Given the description of an element on the screen output the (x, y) to click on. 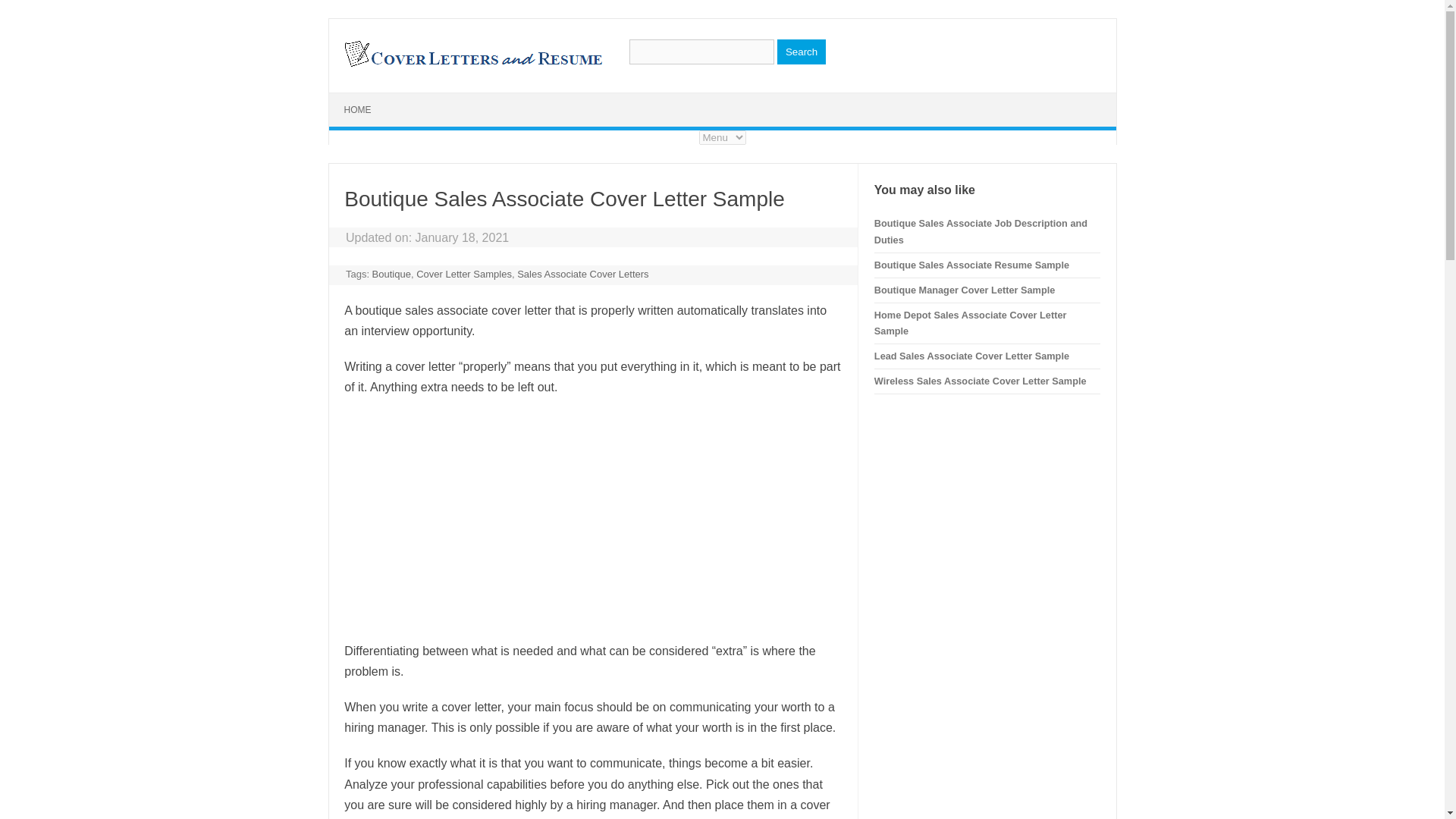
Advertisement (592, 519)
Cover Letter Samples (464, 274)
Search (801, 51)
Lead Sales Associate Cover Letter Sample (971, 355)
Home Depot Sales Associate Cover Letter Sample (971, 323)
Boutique (391, 274)
Boutique Manager Cover Letter Sample (964, 289)
Search (801, 51)
Boutique Sales Associate Resume Sample (971, 265)
Boutique Sales Associate Job Description and Duties (981, 231)
HOME (358, 109)
Cover Letters and Resume Samples (471, 65)
Sales Associate Cover Letters (581, 274)
